Given the description of an element on the screen output the (x, y) to click on. 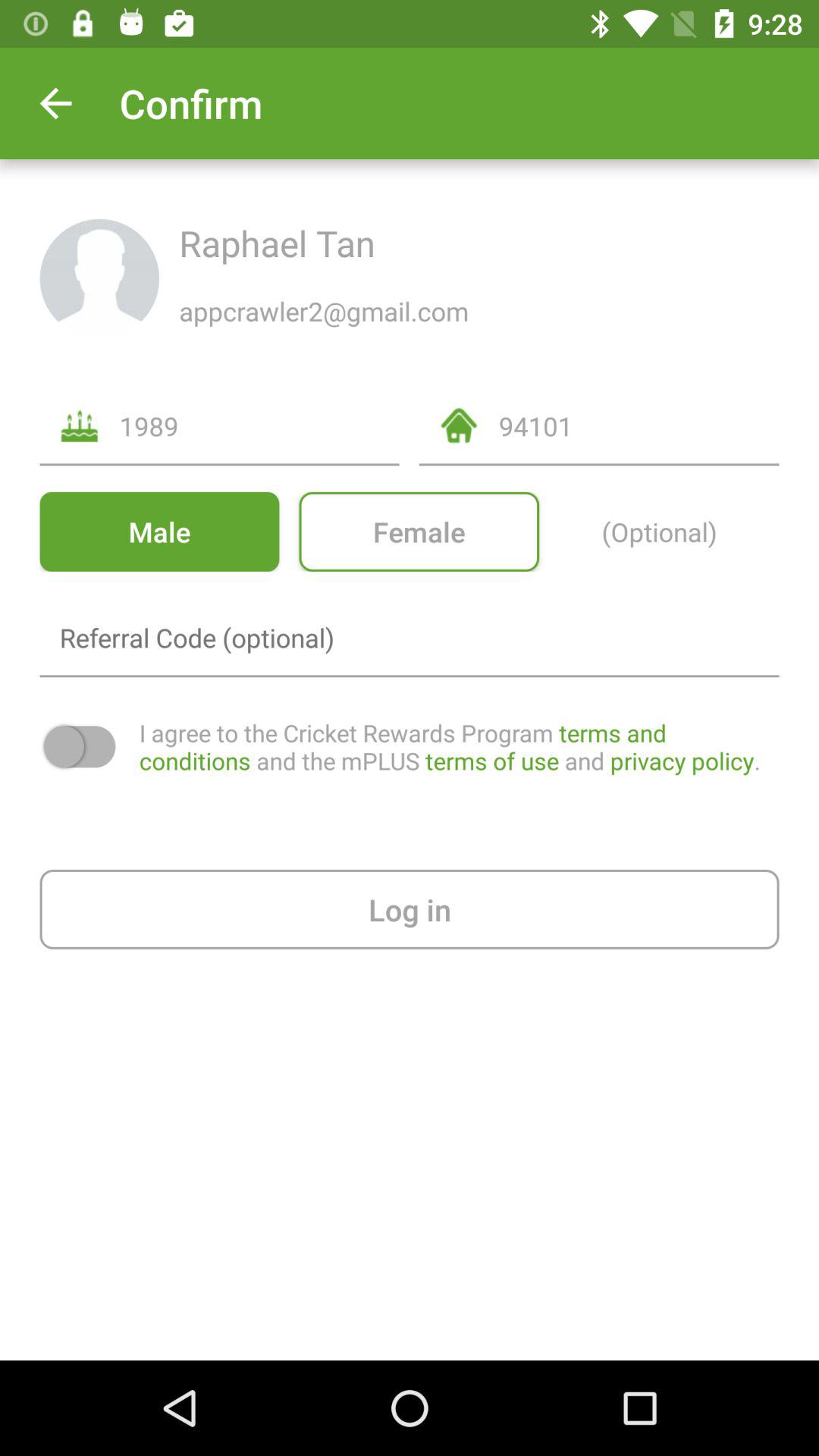
press the icon next to the (optional) item (419, 531)
